Given the description of an element on the screen output the (x, y) to click on. 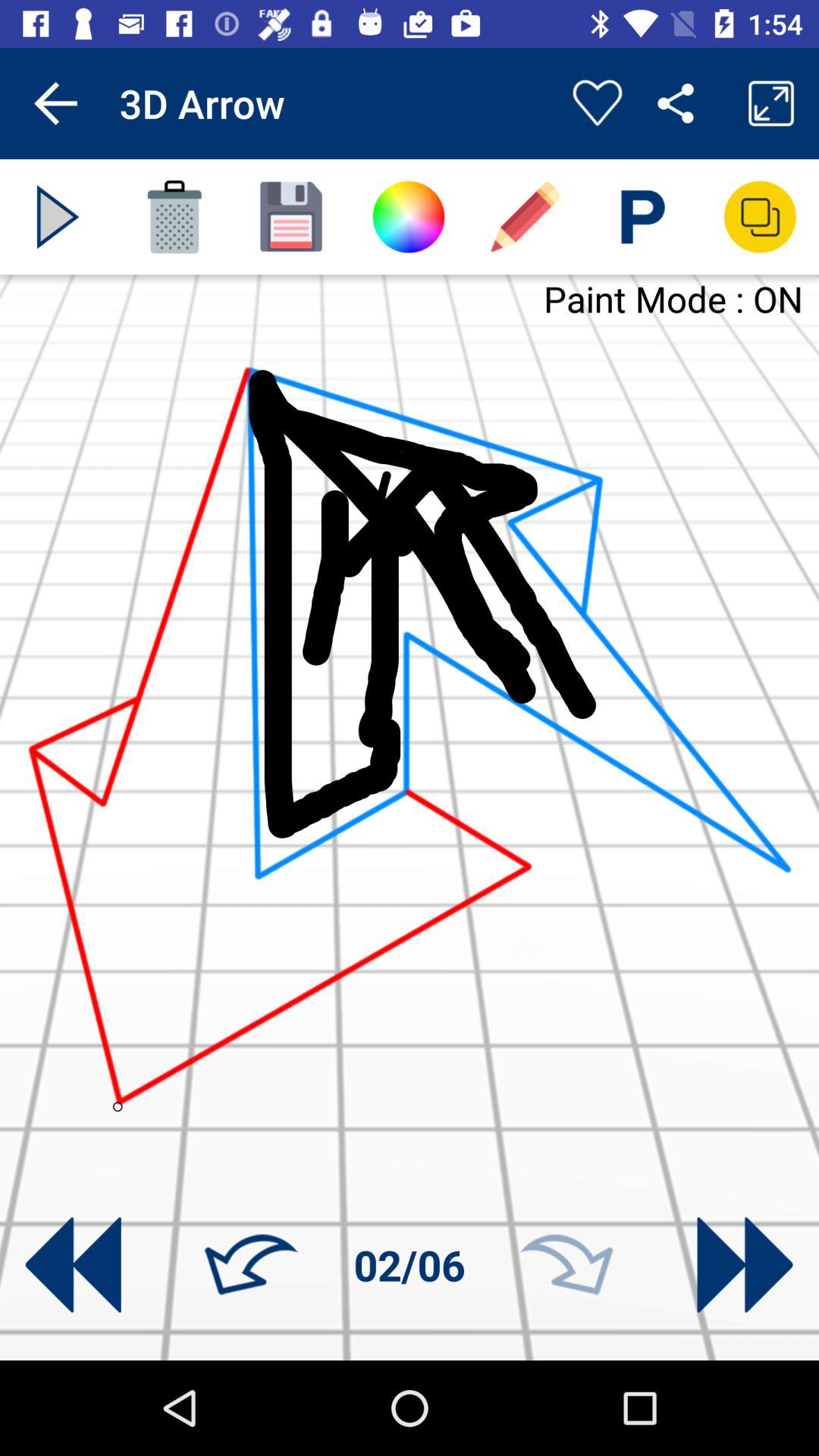
save work button (291, 216)
